Given the description of an element on the screen output the (x, y) to click on. 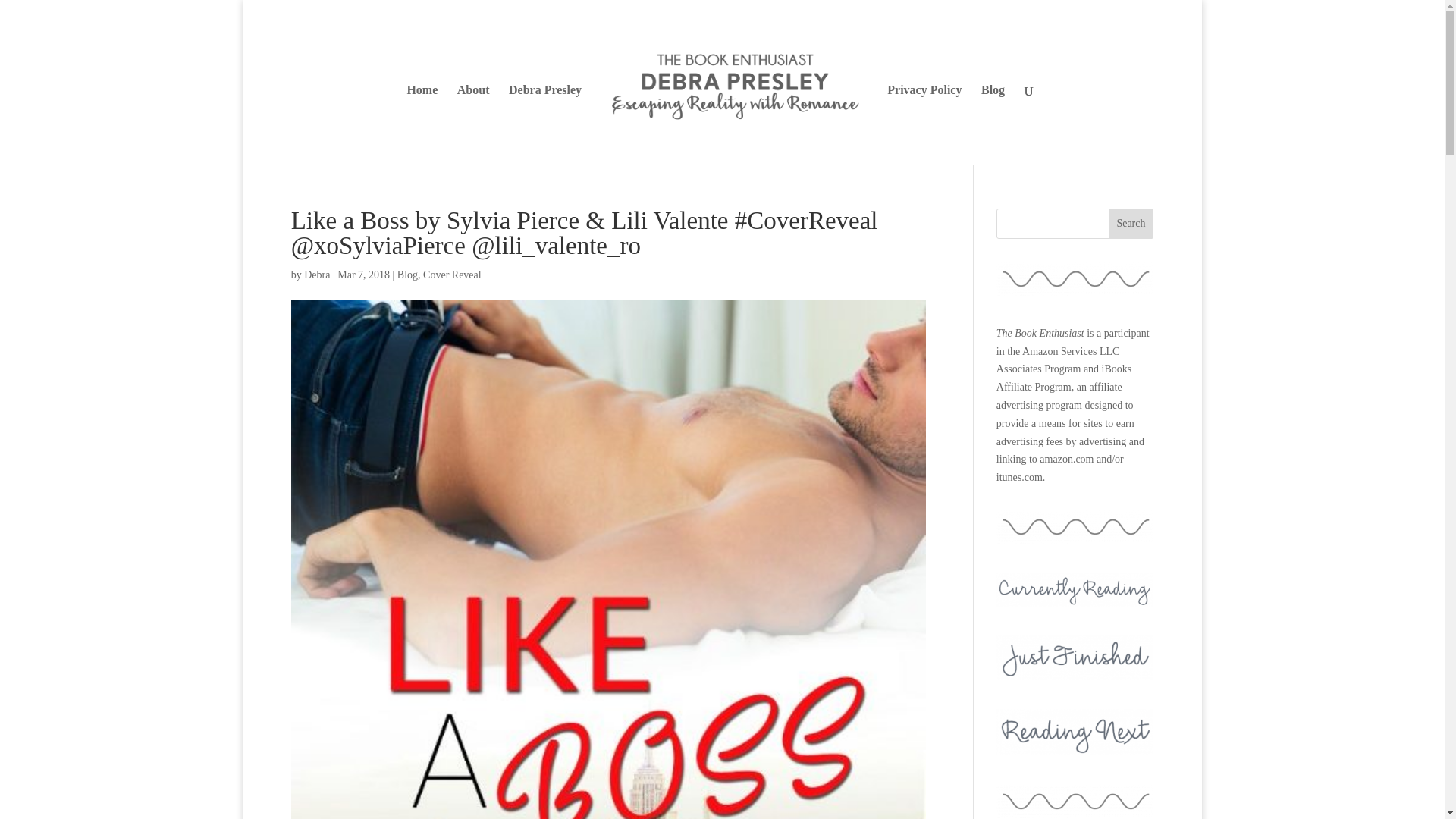
Cover Reveal (452, 274)
Debra Presley (544, 124)
Posts by Debra (317, 274)
Privacy Policy (923, 124)
Search (1131, 223)
Blog (407, 274)
Search (1131, 223)
Debra (317, 274)
